Given the description of an element on the screen output the (x, y) to click on. 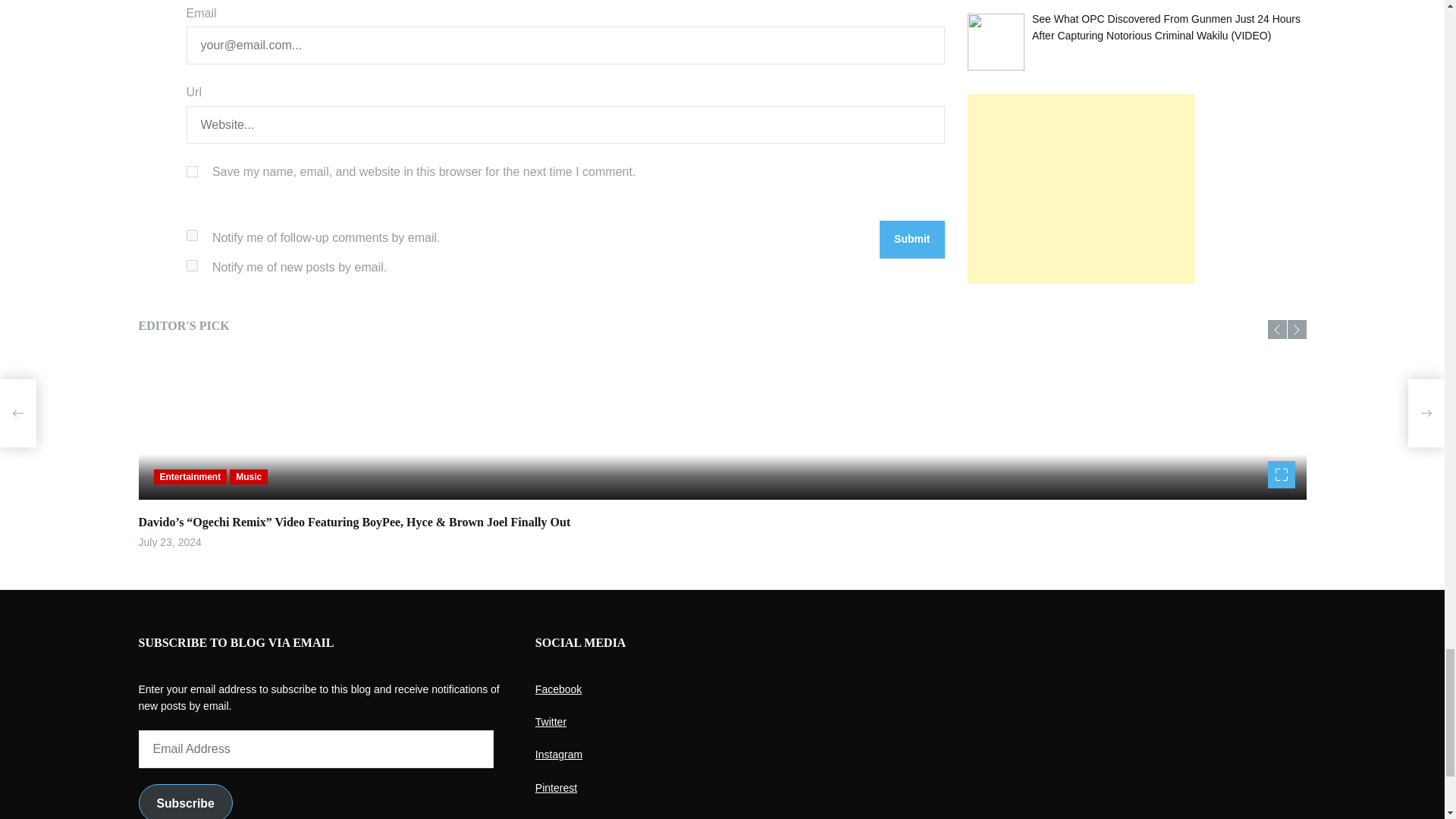
Submit (911, 239)
yes (192, 171)
subscribe (192, 265)
subscribe (192, 235)
